Given the description of an element on the screen output the (x, y) to click on. 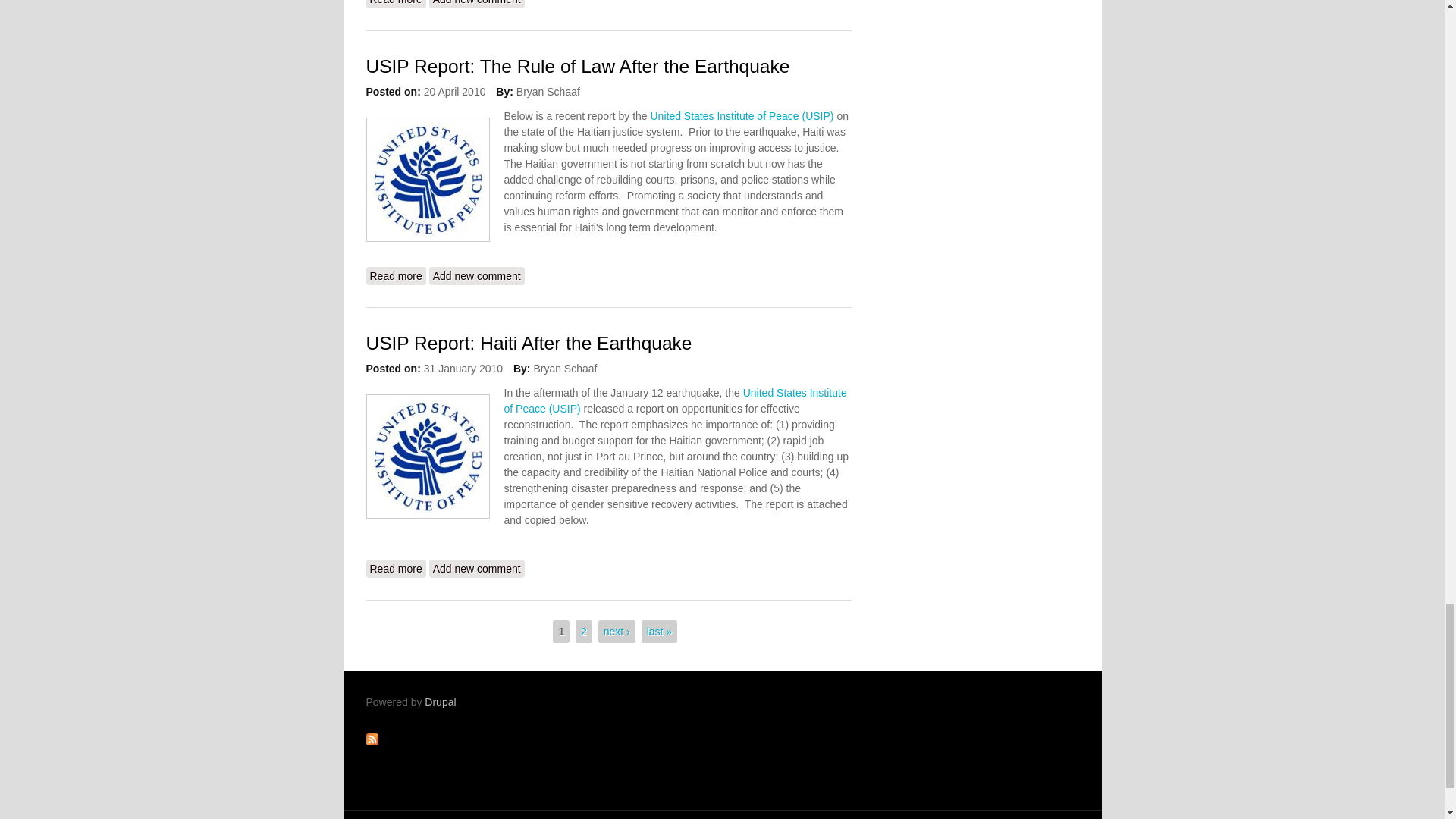
Add a new comment to this page. (476, 4)
Are We Reconstructing Yet?  (395, 4)
USIP Report:  The Rule of Law After the Earthquake (395, 275)
